Given the description of an element on the screen output the (x, y) to click on. 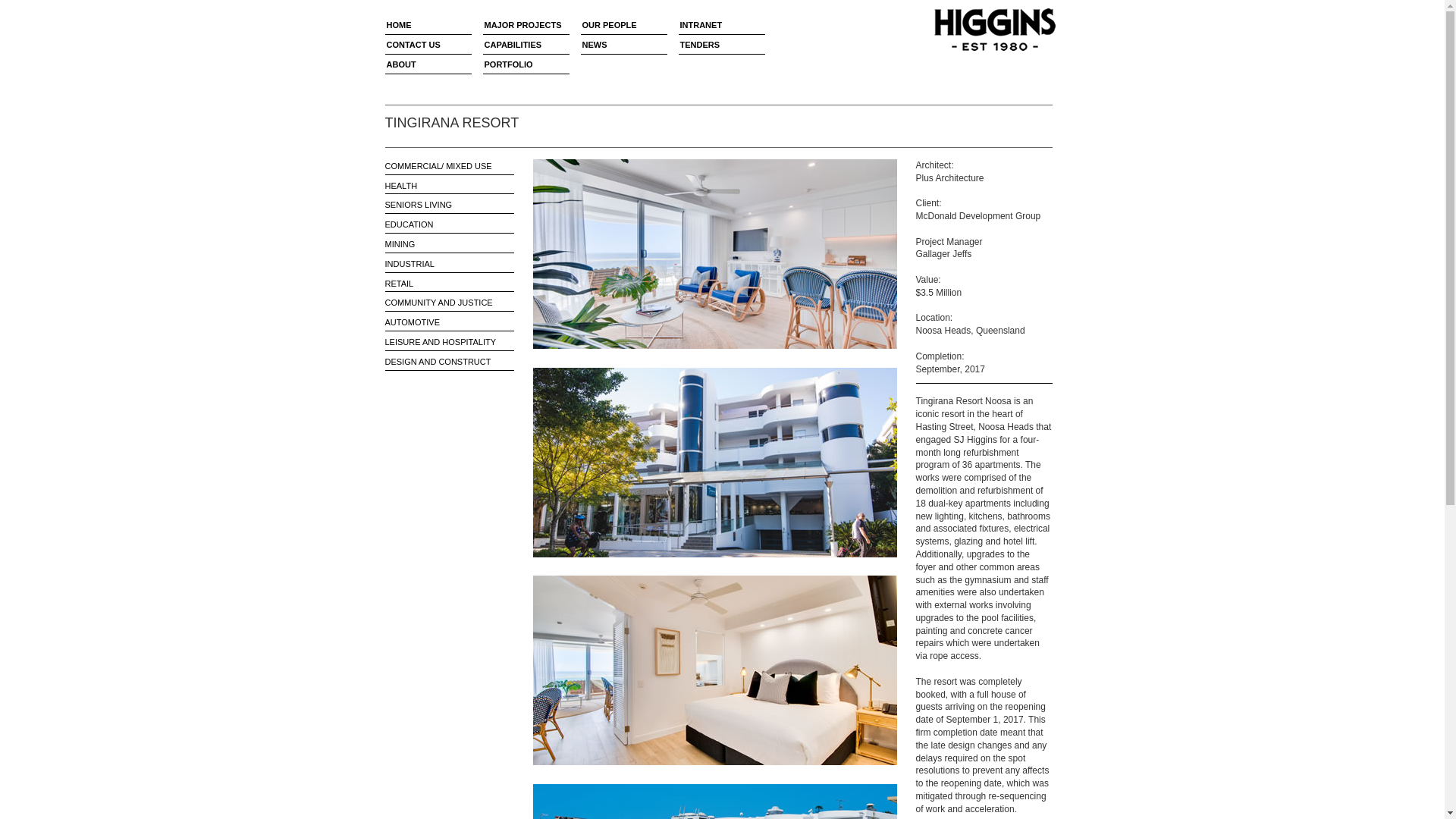
LEISURE AND HOSPITALITY (449, 341)
MAJOR PROJECTS (525, 25)
INDUSTRIAL (449, 264)
HEALTH (449, 185)
INTRANET (720, 25)
RETAIL (449, 283)
EDUCATION (449, 224)
DESIGN AND CONSTRUCT (449, 361)
HOME (428, 25)
MINING (449, 244)
CAPABILITIES (525, 45)
PORTFOLIO (525, 65)
TENDERS (720, 45)
ABOUT (428, 65)
AUTOMOTIVE (449, 322)
